Given the description of an element on the screen output the (x, y) to click on. 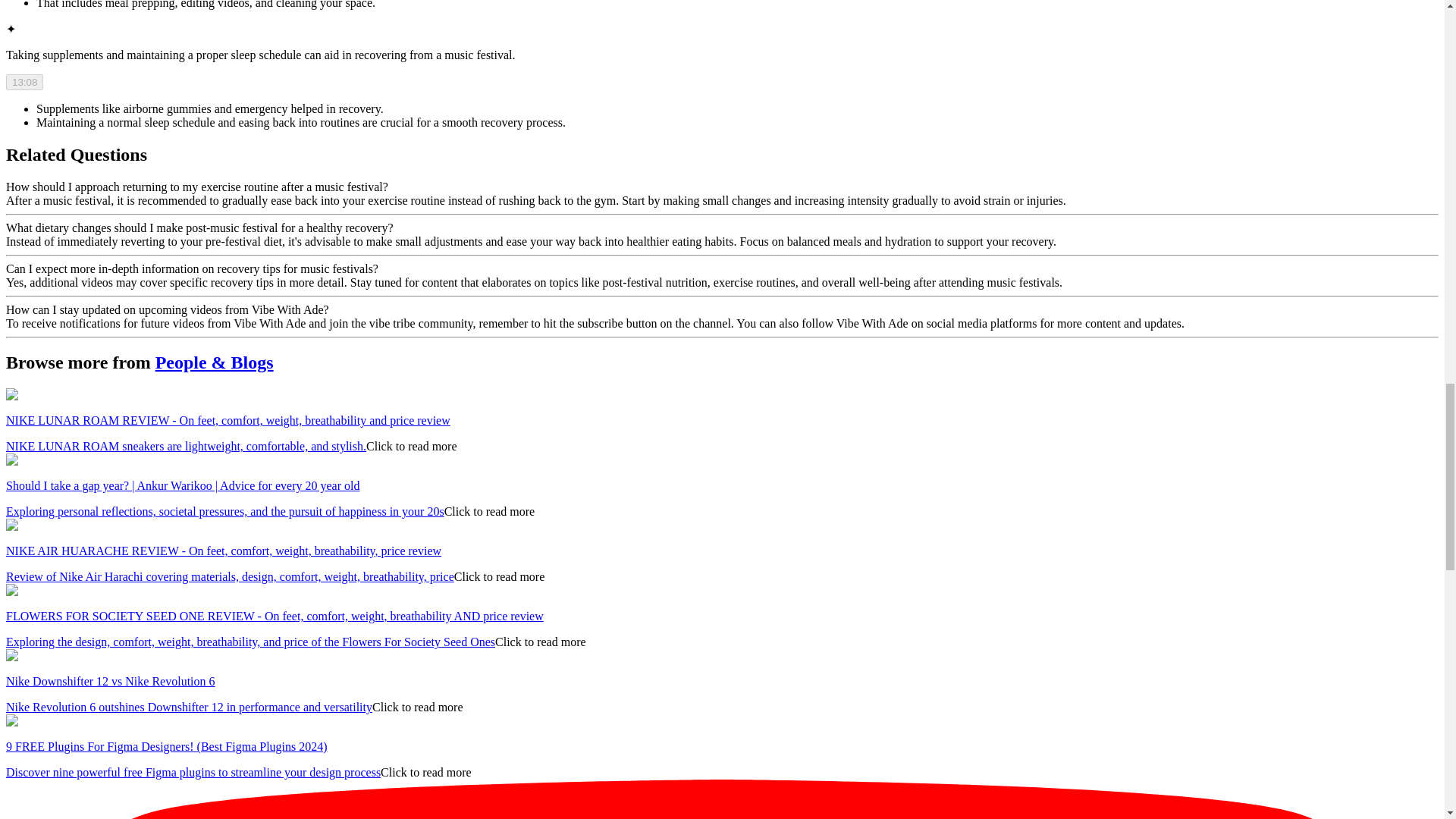
13:08 (24, 82)
Nike Downshifter 12 vs Nike Revolution 6 (110, 680)
